Given the description of an element on the screen output the (x, y) to click on. 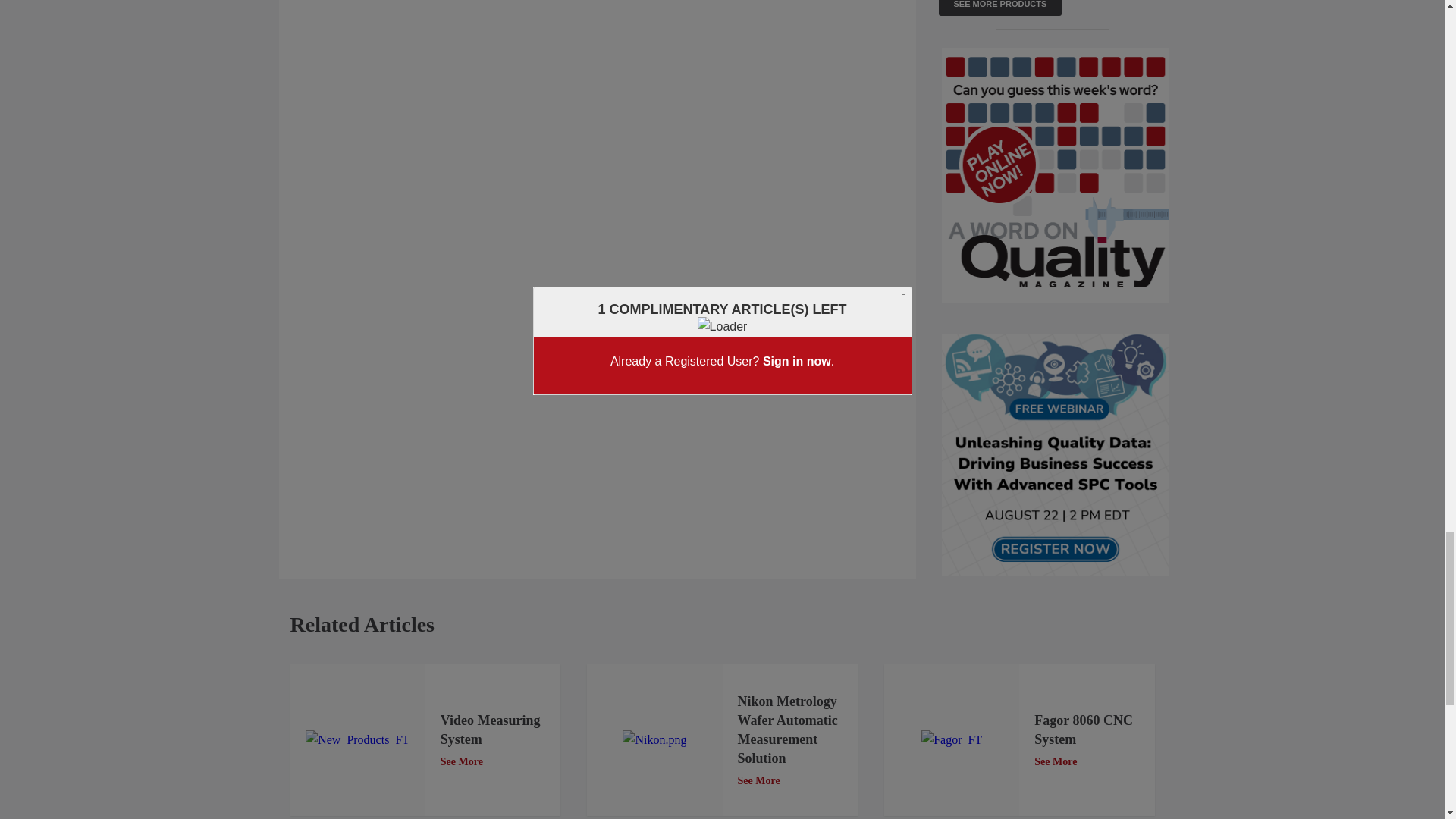
Nikon.png (654, 740)
